Given the description of an element on the screen output the (x, y) to click on. 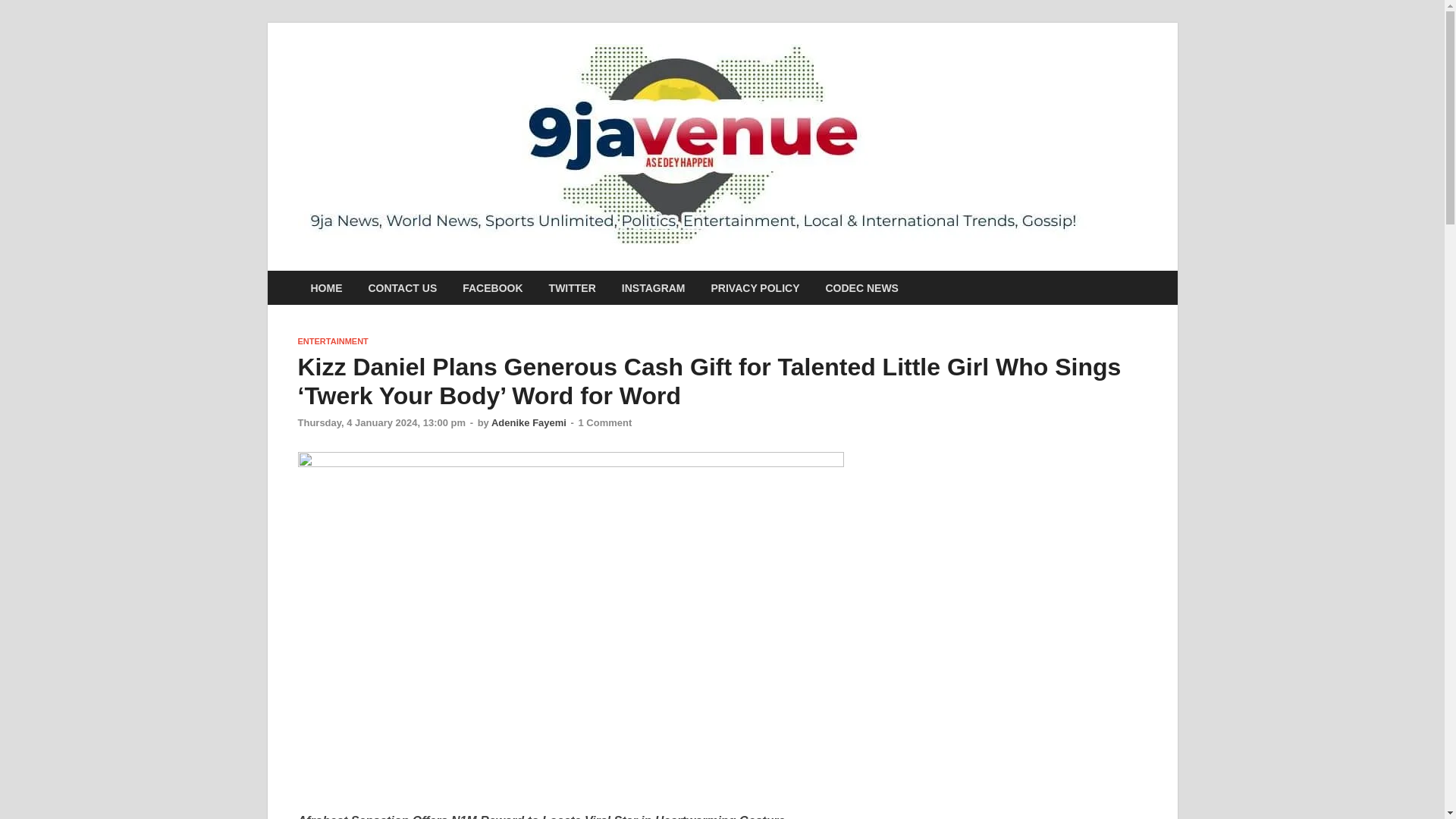
TWITTER (571, 287)
Adenike Fayemi (529, 422)
HOME (326, 287)
Thursday, 4 January 2024, 13:00 pm (381, 422)
CODEC NEWS (861, 287)
9javenue (1164, 74)
FACEBOOK (492, 287)
1 Comment (604, 422)
CONTACT US (402, 287)
PRIVACY POLICY (755, 287)
